Given the description of an element on the screen output the (x, y) to click on. 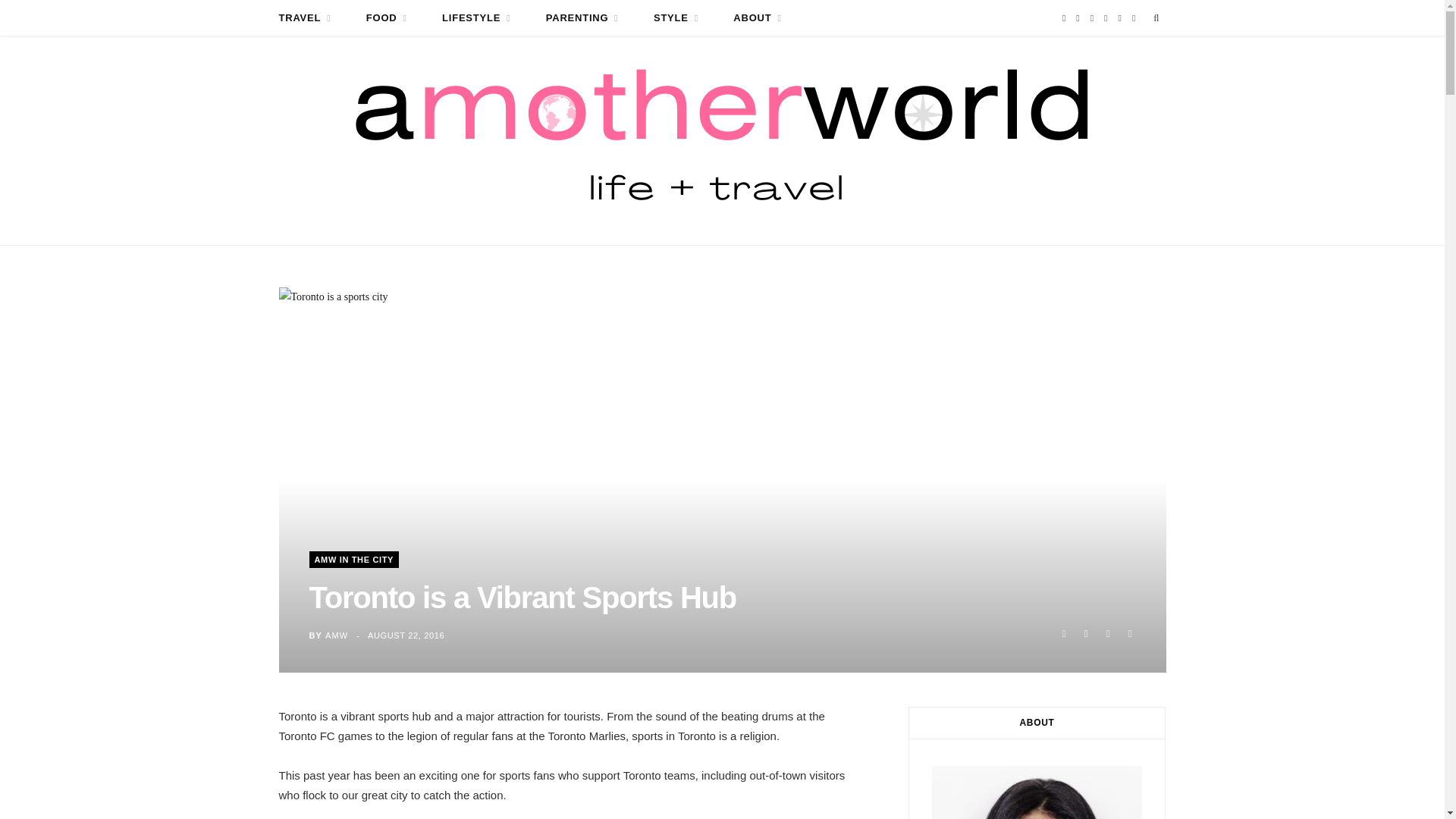
LIFESTYLE (475, 18)
Twitter (1086, 633)
Facebook (1063, 633)
ABOUT (756, 18)
Instagram (1091, 18)
Facebook (1064, 18)
STYLE (675, 18)
FOOD (386, 18)
Pinterest (1105, 18)
LinkedIn (1133, 18)
PARENTING (581, 18)
Email (1130, 633)
YouTube (1119, 18)
